Given the description of an element on the screen output the (x, y) to click on. 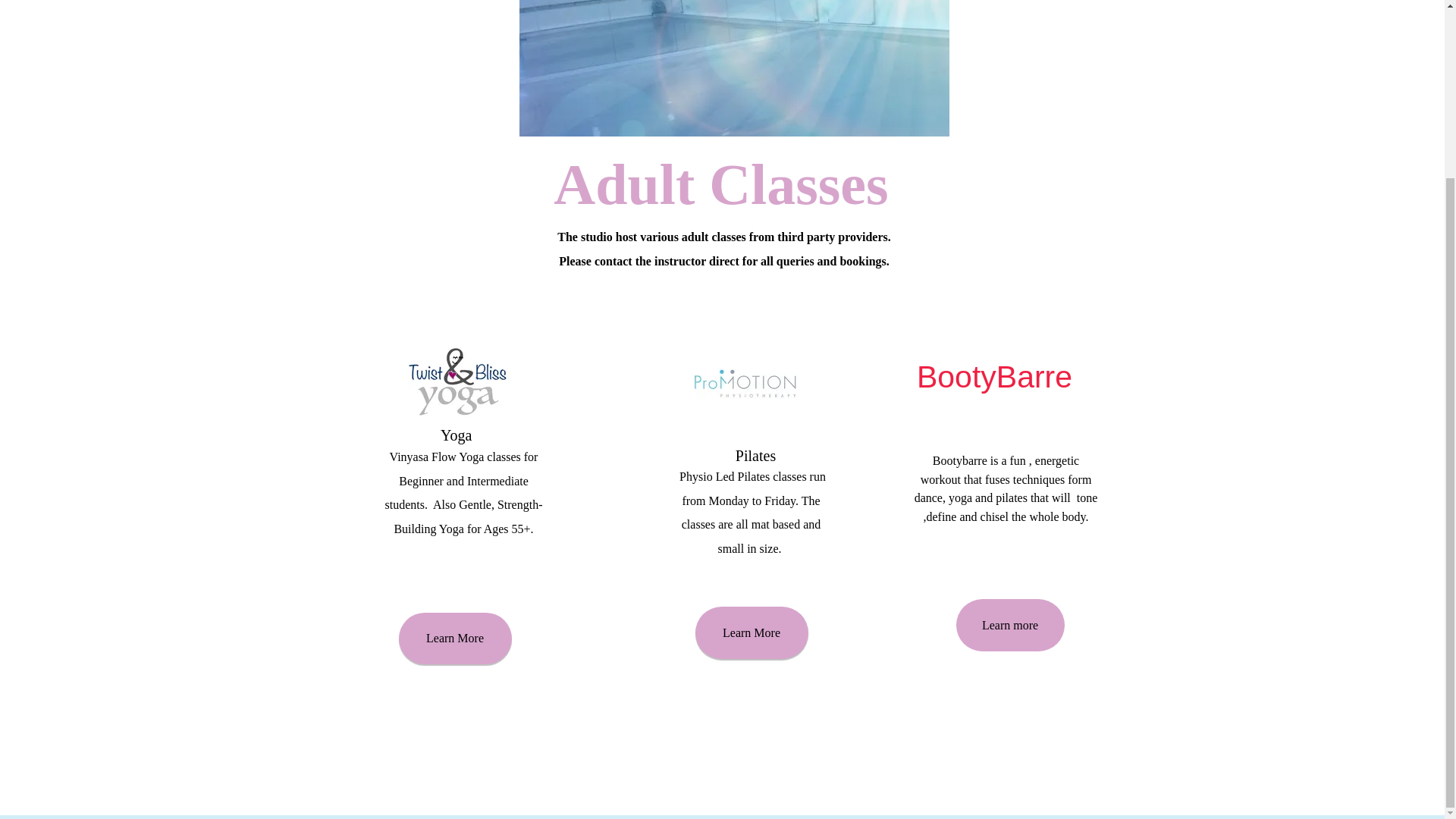
Learn More (751, 632)
Learn more (1009, 624)
Learn More (455, 638)
